Given the description of an element on the screen output the (x, y) to click on. 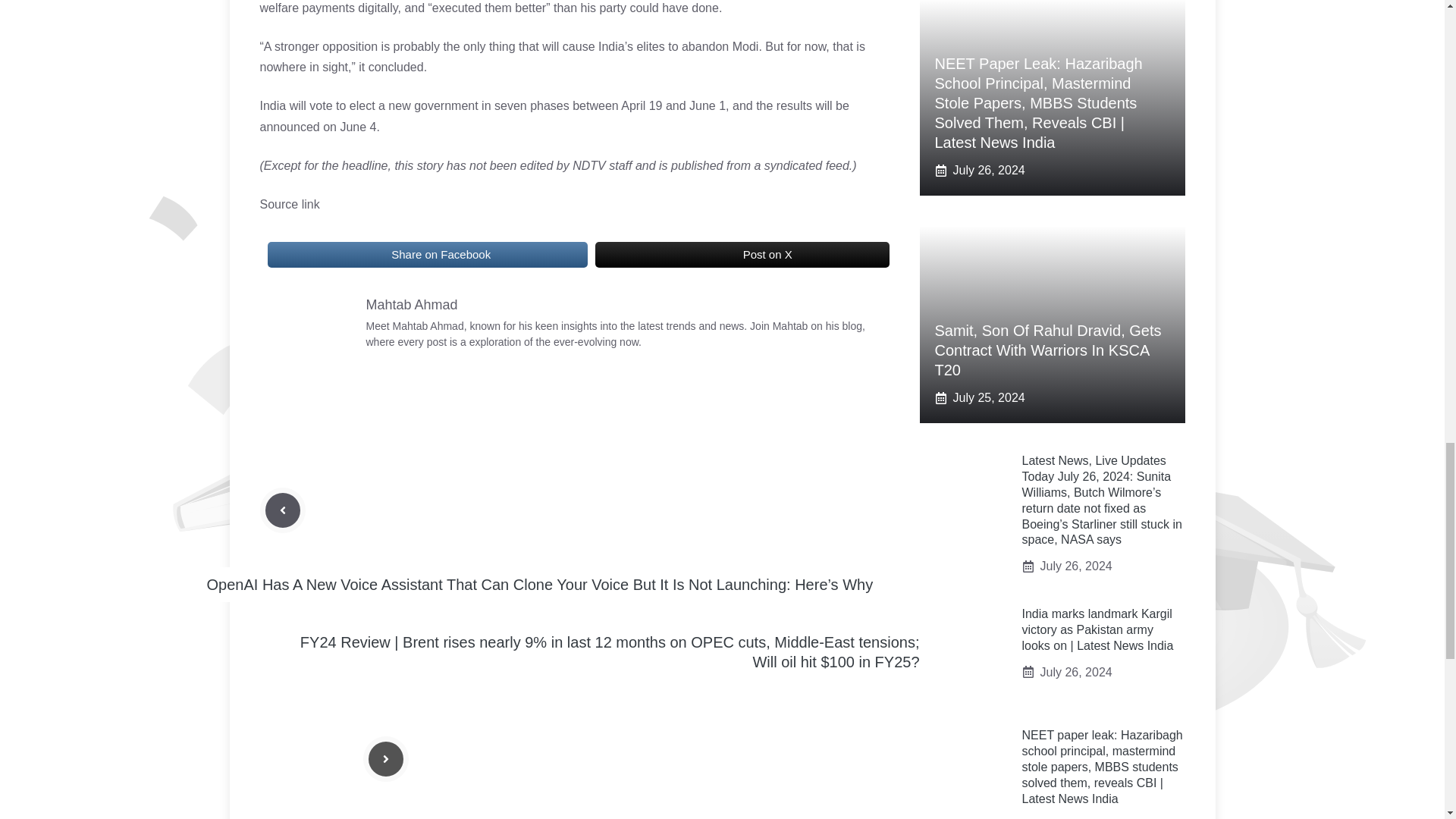
Mahtab Ahmad (411, 304)
Post on X (742, 254)
Share on Facebook (426, 254)
Source link (288, 204)
